Given the description of an element on the screen output the (x, y) to click on. 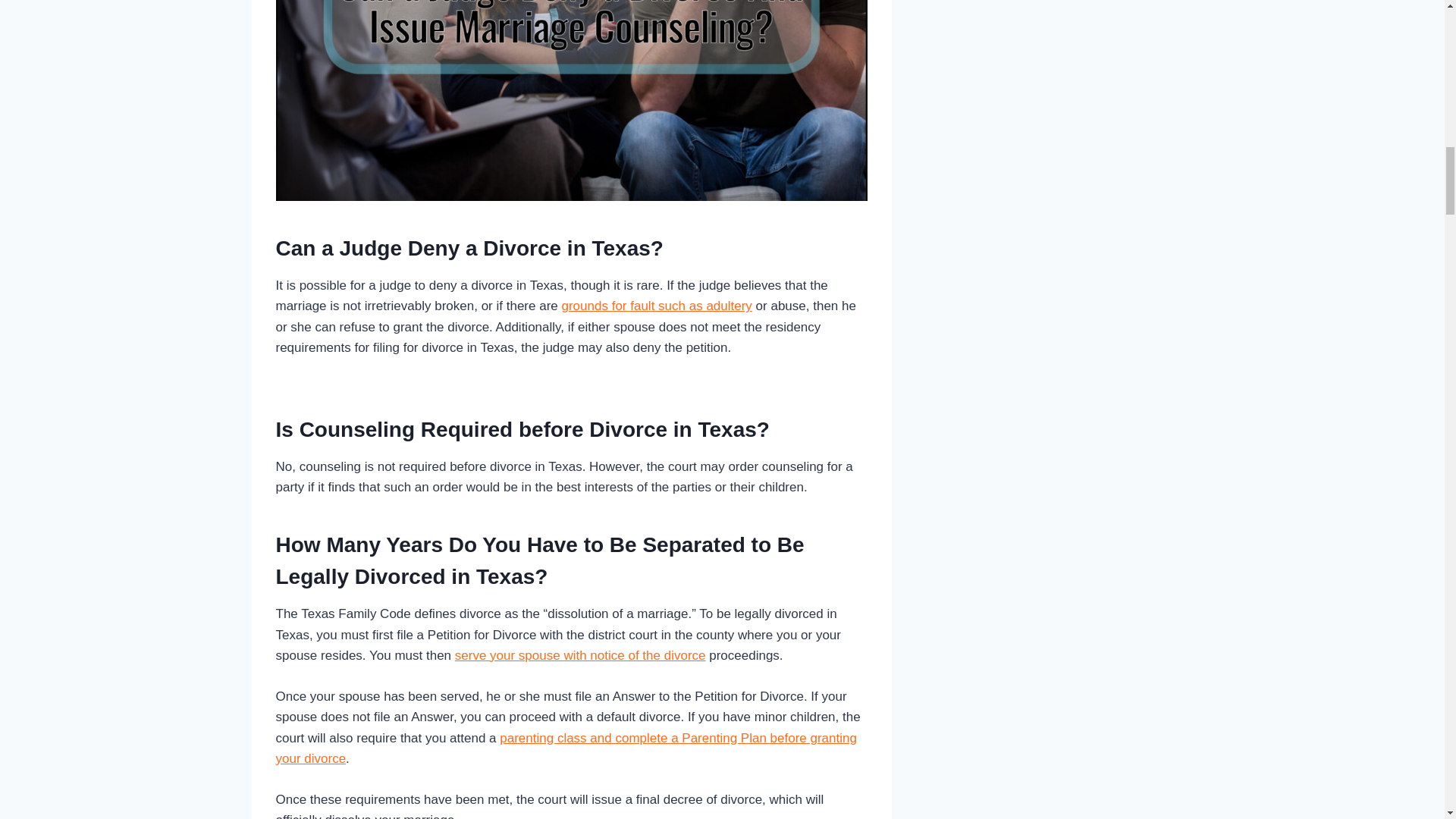
serve your spouse with notice of the divorce (580, 655)
grounds for fault such as adultery (655, 305)
